Given the description of an element on the screen output the (x, y) to click on. 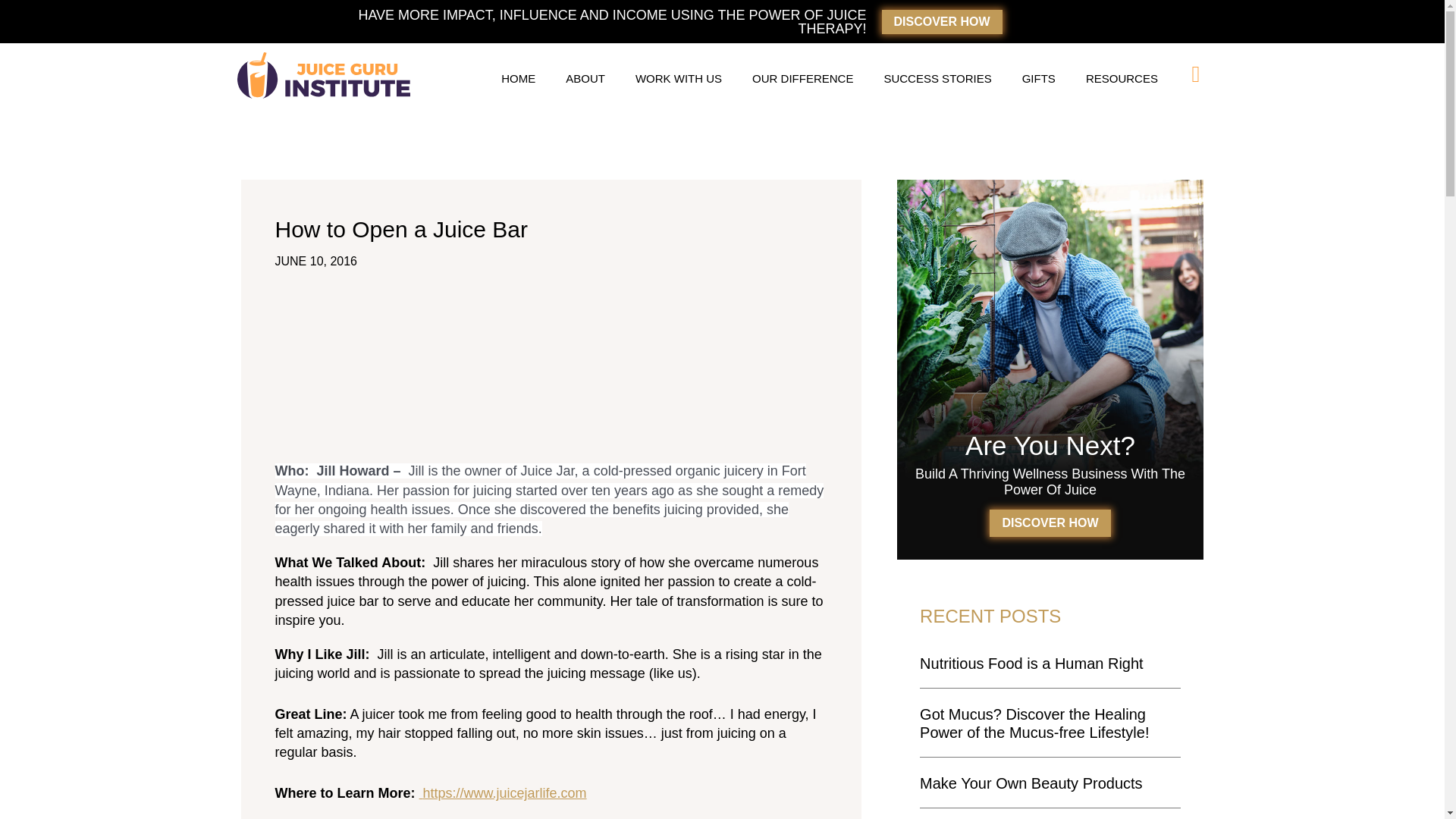
HOME (518, 78)
GIFTS (1038, 78)
DISCOVER HOW (940, 21)
Nutritious Food is a Human Right (1031, 663)
WORK WITH US (678, 78)
DISCOVER HOW (1049, 523)
RESOURCES (1121, 78)
JUNE 10, 2016 (315, 261)
SUCCESS STORIES (936, 78)
